Given the description of an element on the screen output the (x, y) to click on. 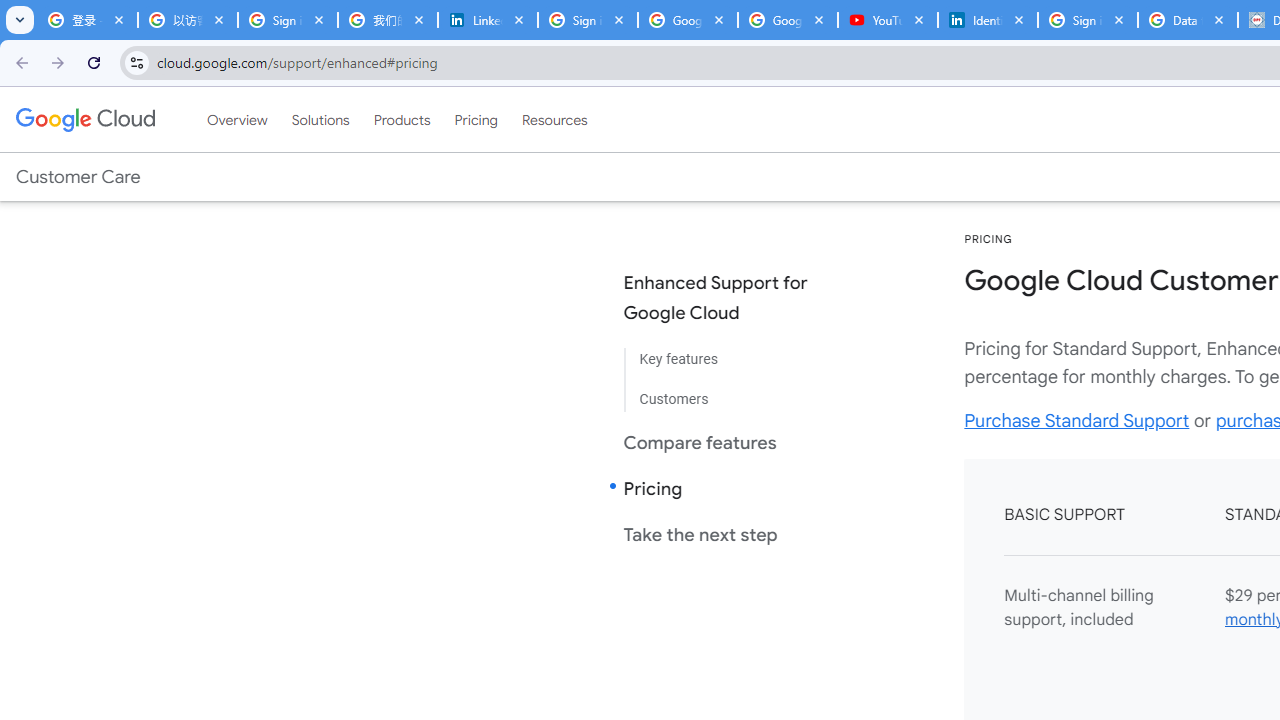
Key features (732, 359)
Identity verification via Persona | LinkedIn Help (988, 20)
Purchase Standard Support (1076, 420)
Sign in - Google Accounts (1087, 20)
Close (1218, 19)
Google Cloud (84, 119)
Resources (553, 119)
Products (401, 119)
Sign in - Google Accounts (287, 20)
Sign in - Google Accounts (587, 20)
